Given the description of an element on the screen output the (x, y) to click on. 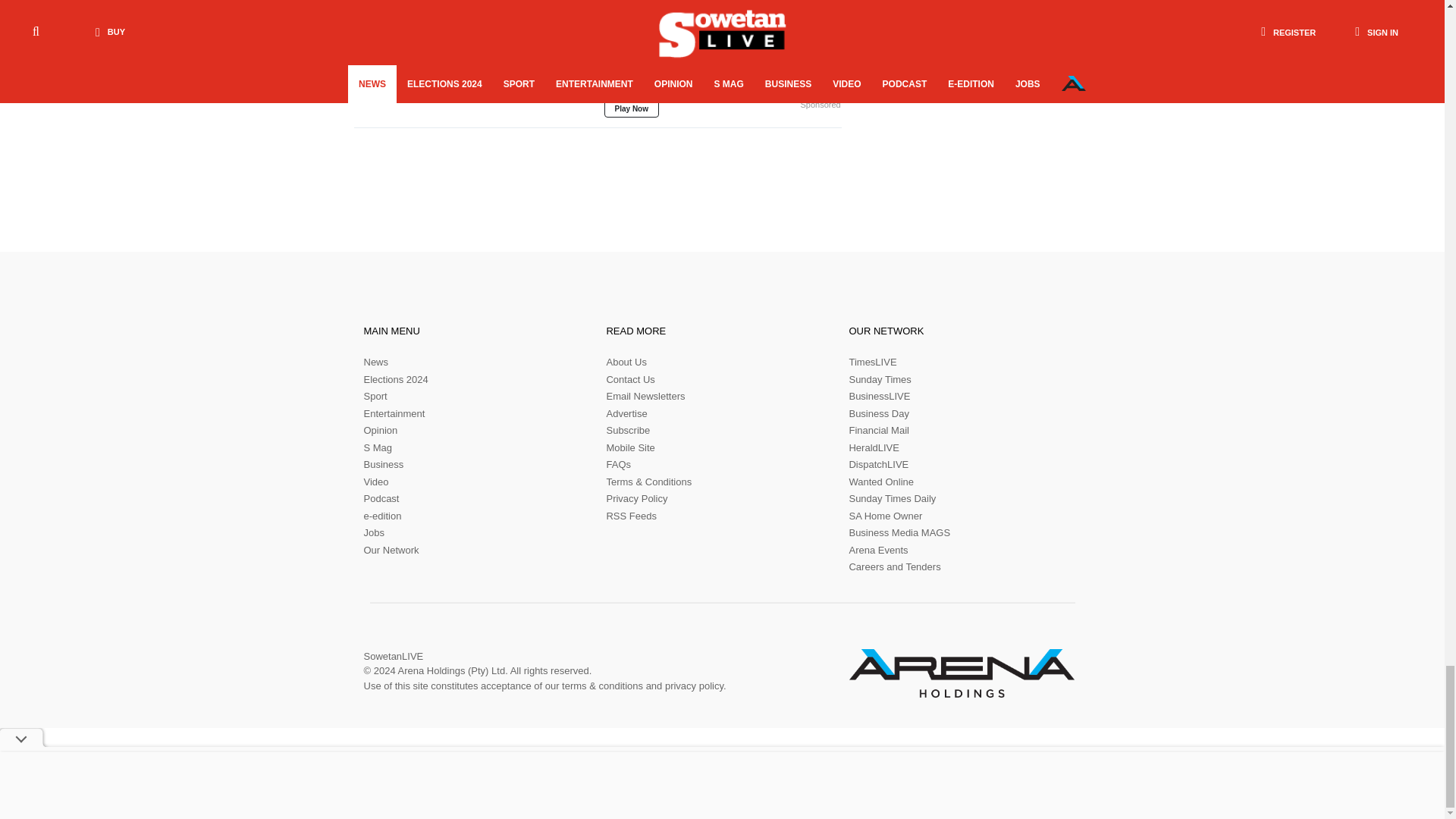
Crossout 2.0: Supercharged (472, 49)
